Given the description of an element on the screen output the (x, y) to click on. 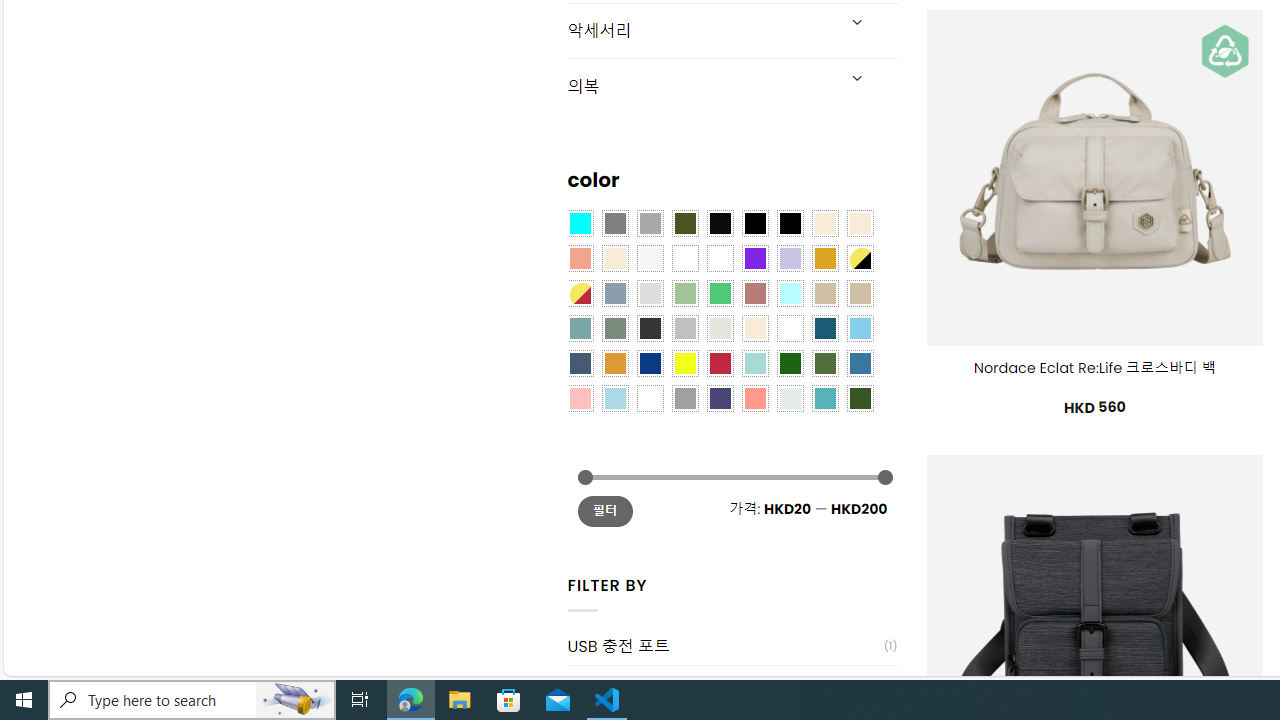
Purple (755, 257)
